Given the description of an element on the screen output the (x, y) to click on. 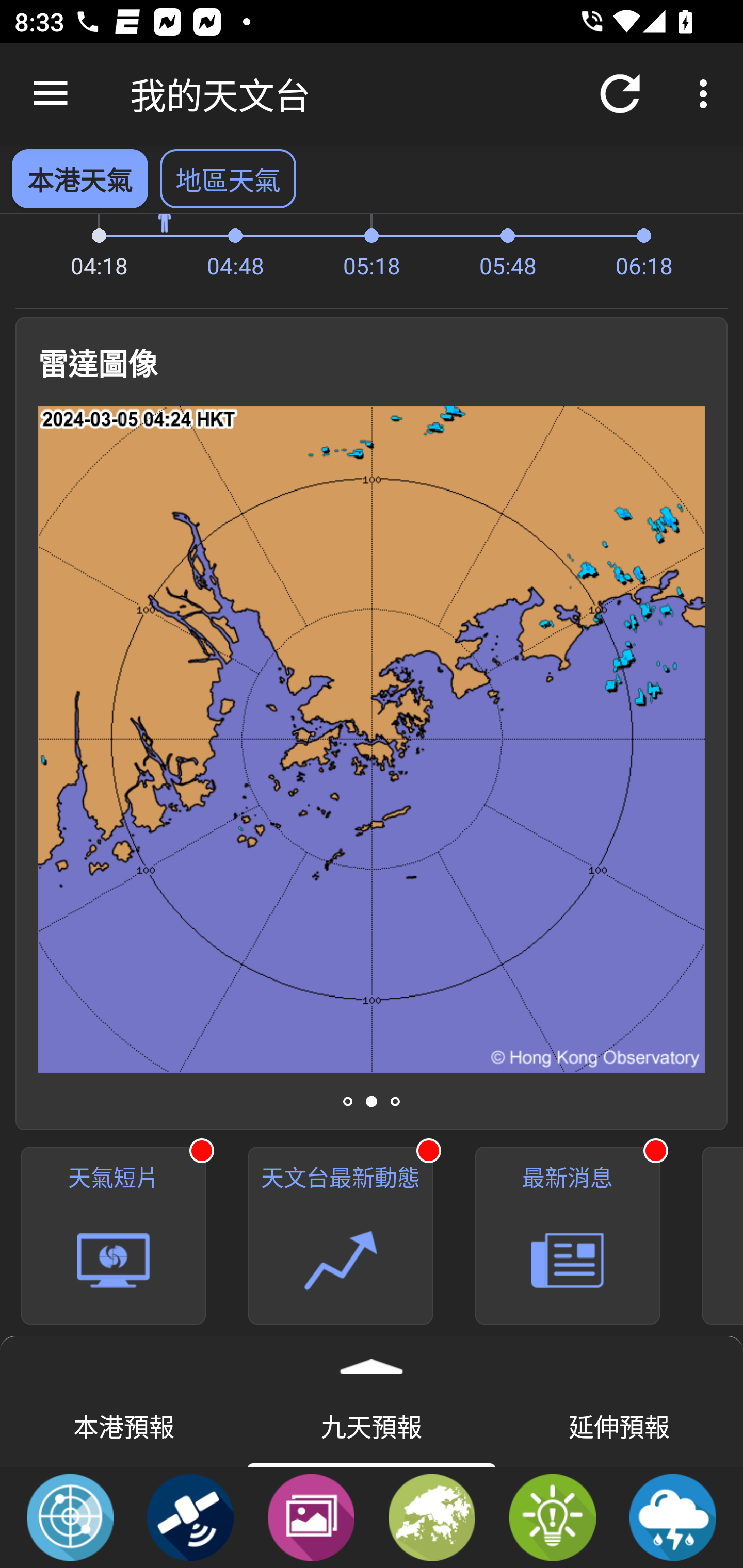
向上瀏覽 (50, 93)
重新整理 (619, 93)
更多選項 (706, 93)
本港天氣 已選擇 本港天氣 (79, 178)
地區天氣 選擇 地區天氣 (227, 178)
雷達圖像 128 公里 (371, 739)
天氣短片 有1個未讀訊息 (113, 1235)
天文台最新動態 有1個未讀訊息 (340, 1235)
最新消息 有1個未讀訊息 (567, 1235)
展開 (371, 1358)
本港預報 (123, 1424)
延伸預報 (619, 1424)
雷達圖像 (69, 1516)
衛星圖像 (190, 1516)
天氣照片 (310, 1516)
分區天氣 (431, 1516)
天氣提示 (551, 1516)
定點降雨及閃電預報 (672, 1516)
